Given the description of an element on the screen output the (x, y) to click on. 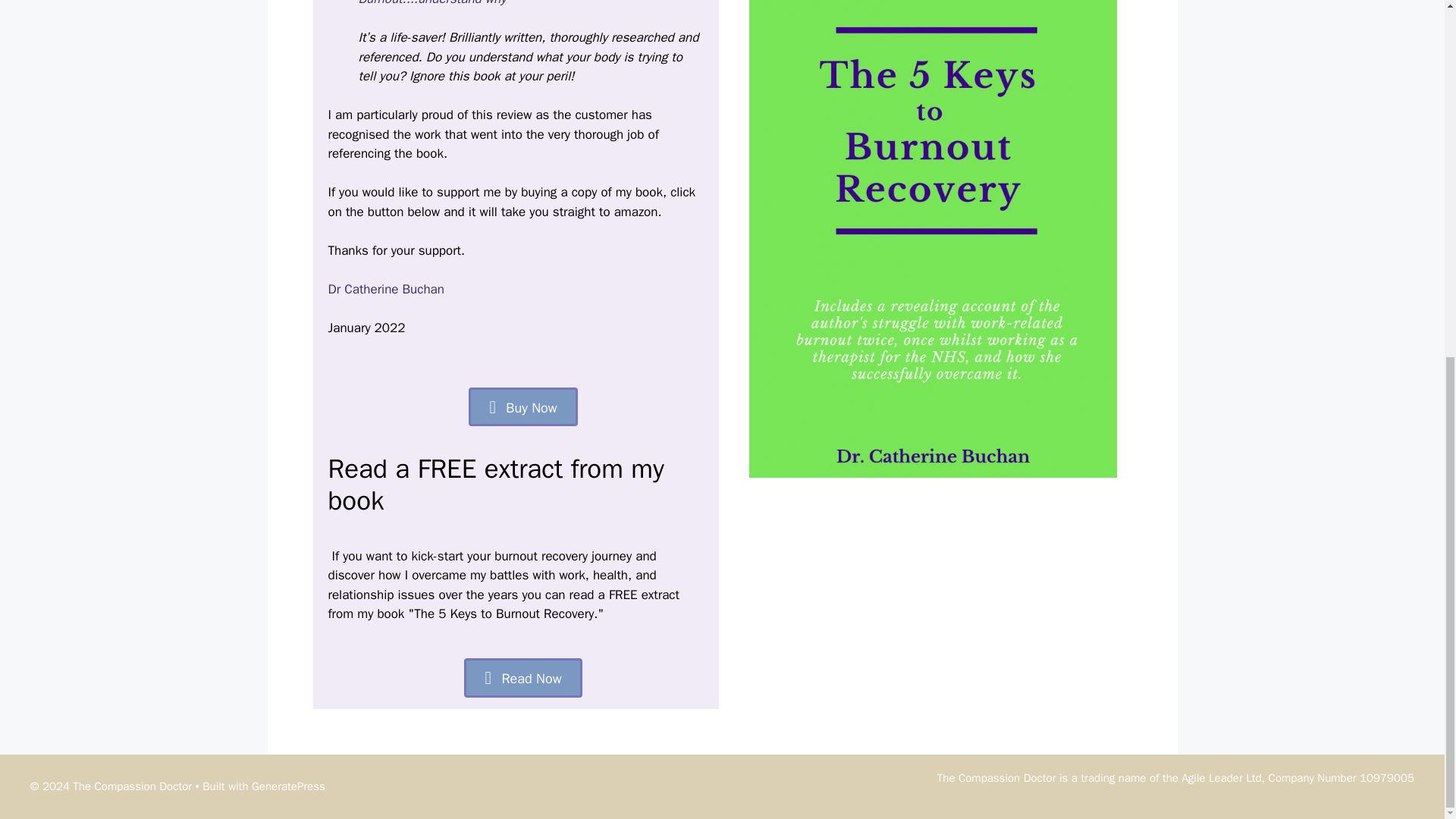
GeneratePress (287, 786)
Burnout....understand why (431, 3)
Dr Catherine Buchan (385, 288)
Buy Now (522, 405)
Read Now (522, 677)
